Given the description of an element on the screen output the (x, y) to click on. 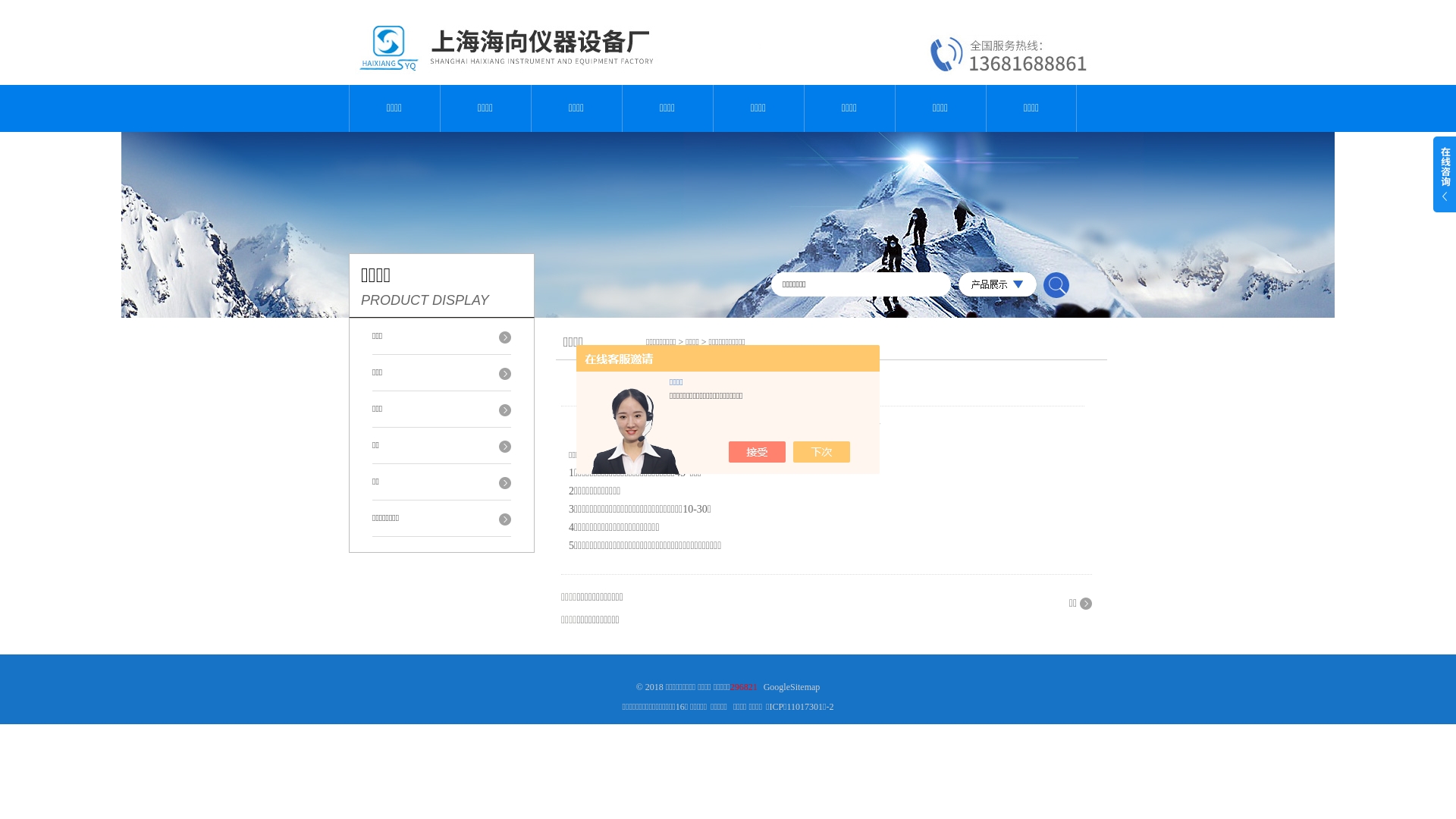
GoogleSitemap Element type: text (791, 686)
  Element type: text (1056, 285)
